Given the description of an element on the screen output the (x, y) to click on. 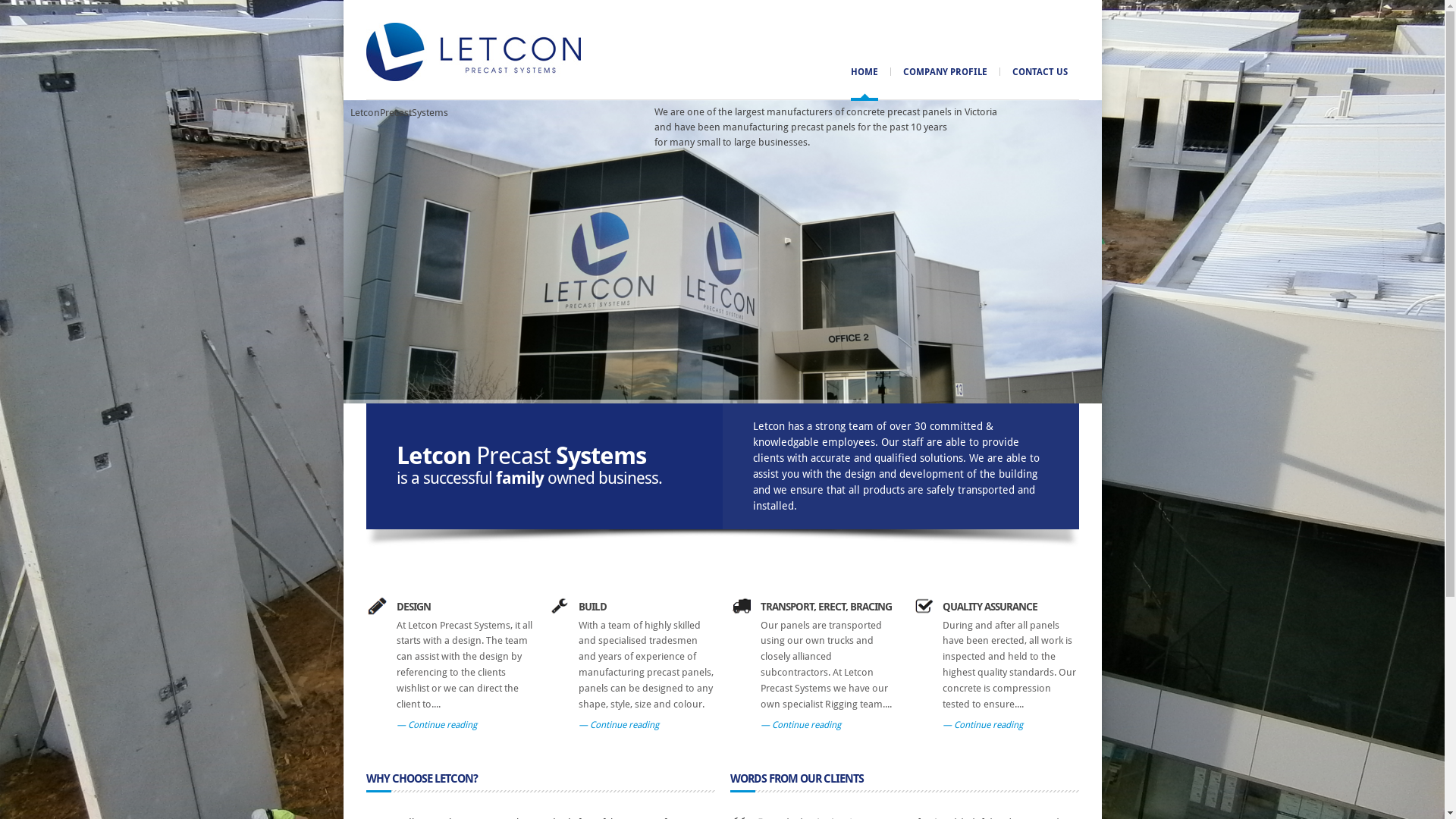
Continue reading Element type: text (617, 725)
Continue reading Element type: text (799, 725)
Continue reading Element type: text (435, 725)
HOME Element type: text (864, 71)
BUILD Element type: text (591, 606)
Continue reading Element type: text (981, 725)
DESIGN Element type: text (412, 606)
COMPANY PROFILE Element type: text (944, 71)
QUALITY ASSURANCE Element type: text (988, 606)
TRANSPORT, ERECT, BRACING Element type: text (825, 606)
CONTACT US Element type: text (1038, 71)
